Given the description of an element on the screen output the (x, y) to click on. 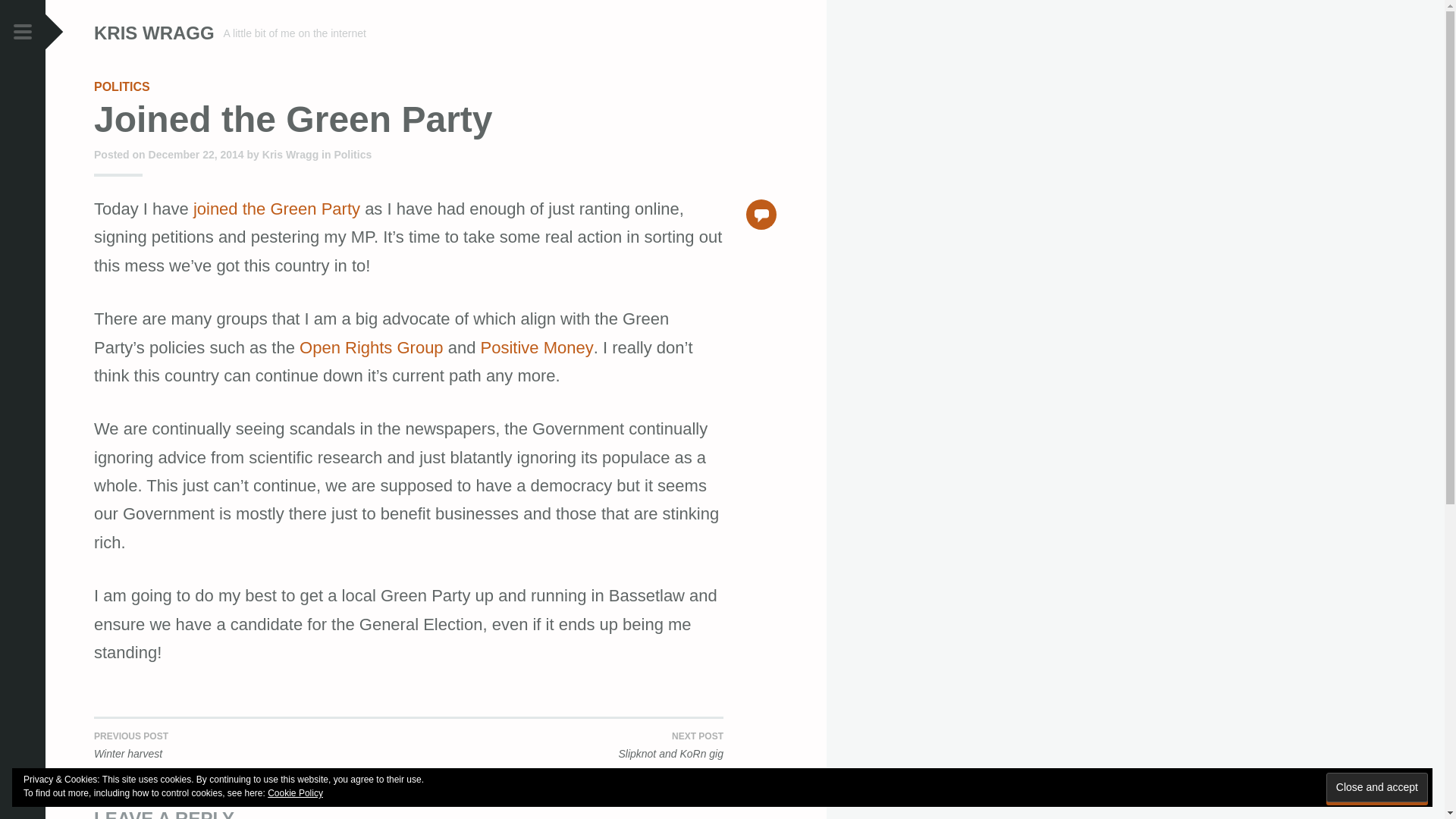
KRIS WRAGG (154, 32)
Kris Wragg (290, 154)
December 22, 2014 (196, 154)
Close and accept (1377, 787)
PRIMARY MENU (22, 33)
Menu (22, 33)
POLITICS (121, 86)
